Given the description of an element on the screen output the (x, y) to click on. 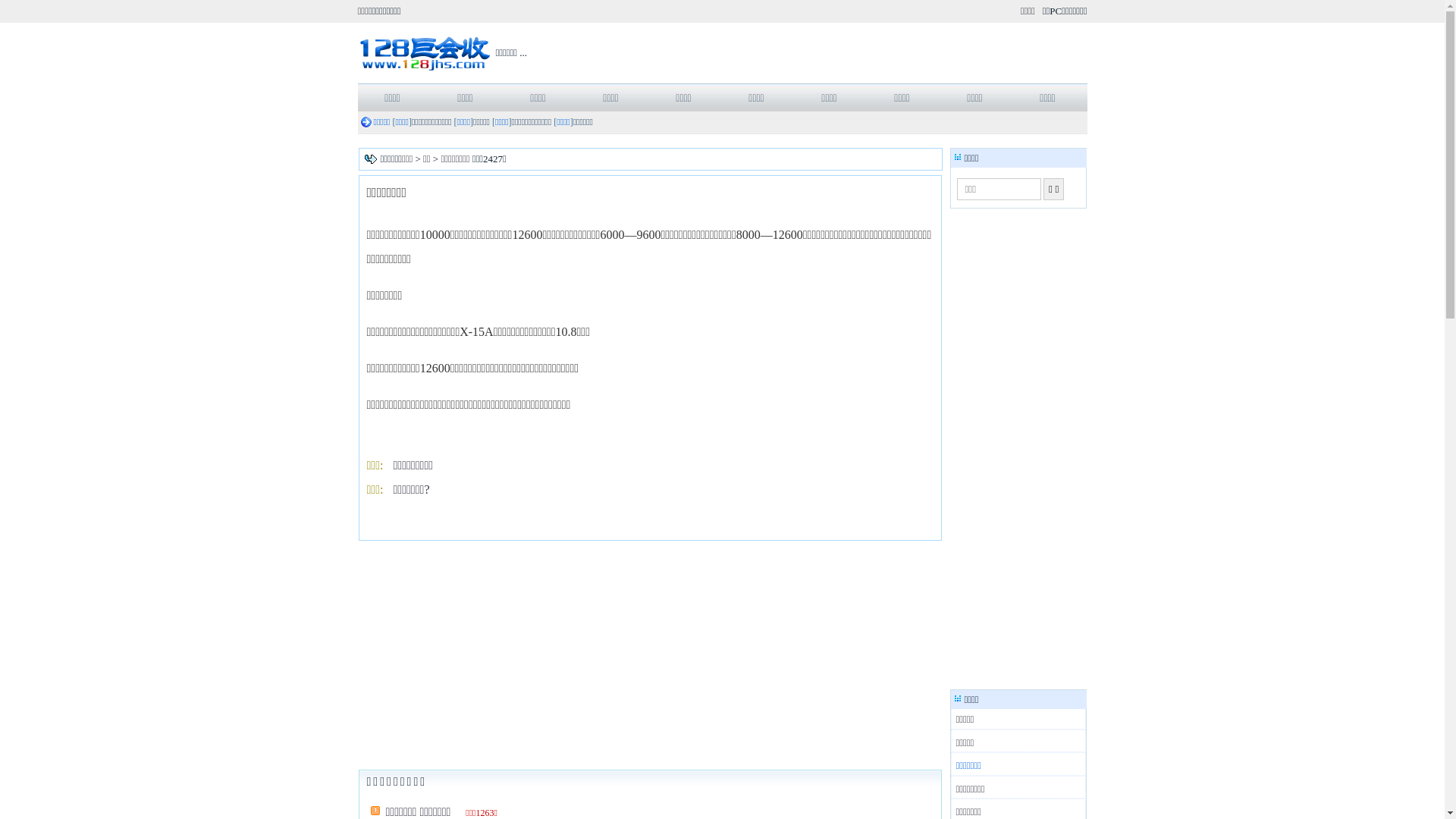
Advertisement Element type: hover (1016, 448)
Advertisement Element type: hover (649, 654)
